Given the description of an element on the screen output the (x, y) to click on. 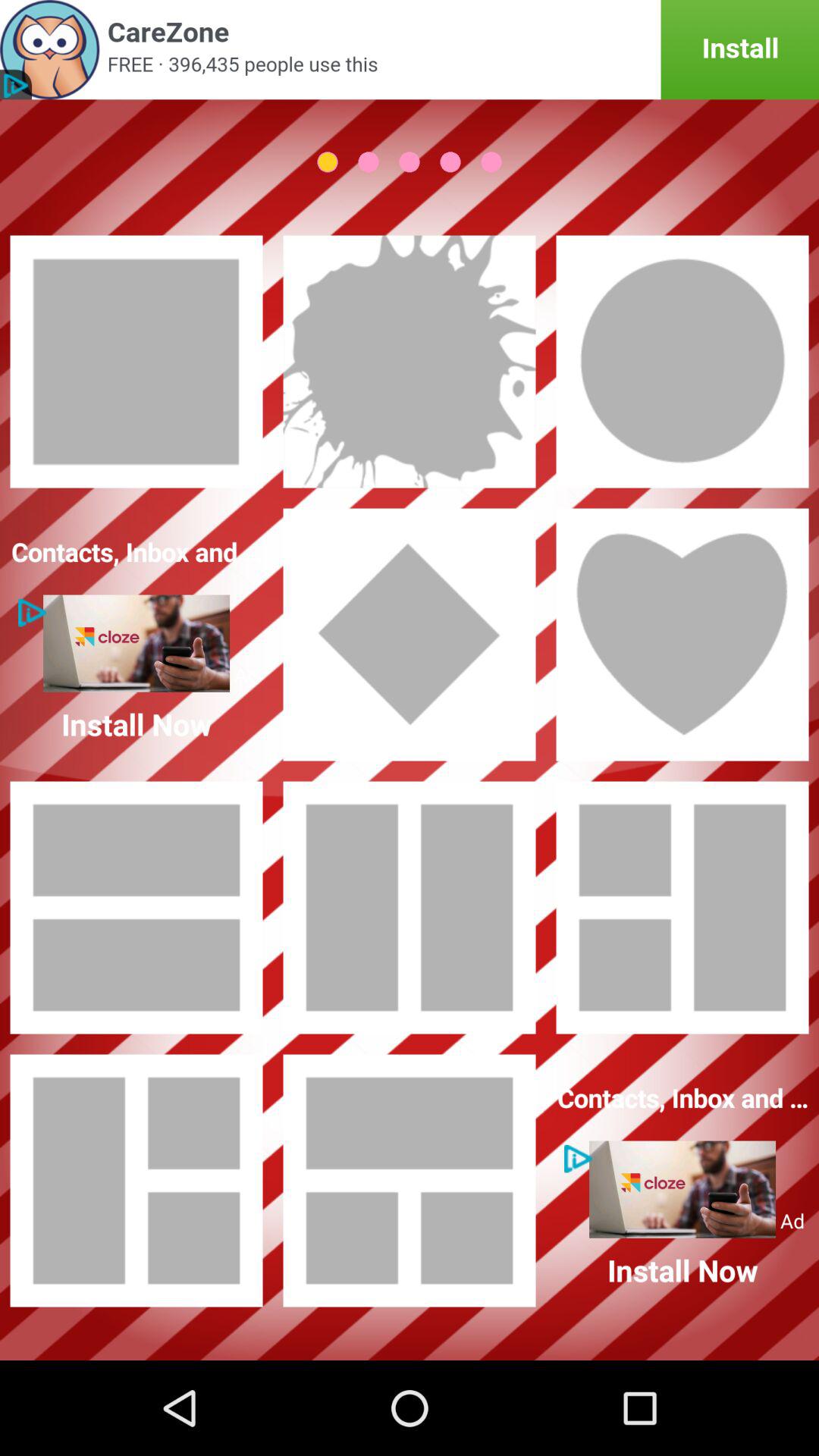
select layout (682, 634)
